Given the description of an element on the screen output the (x, y) to click on. 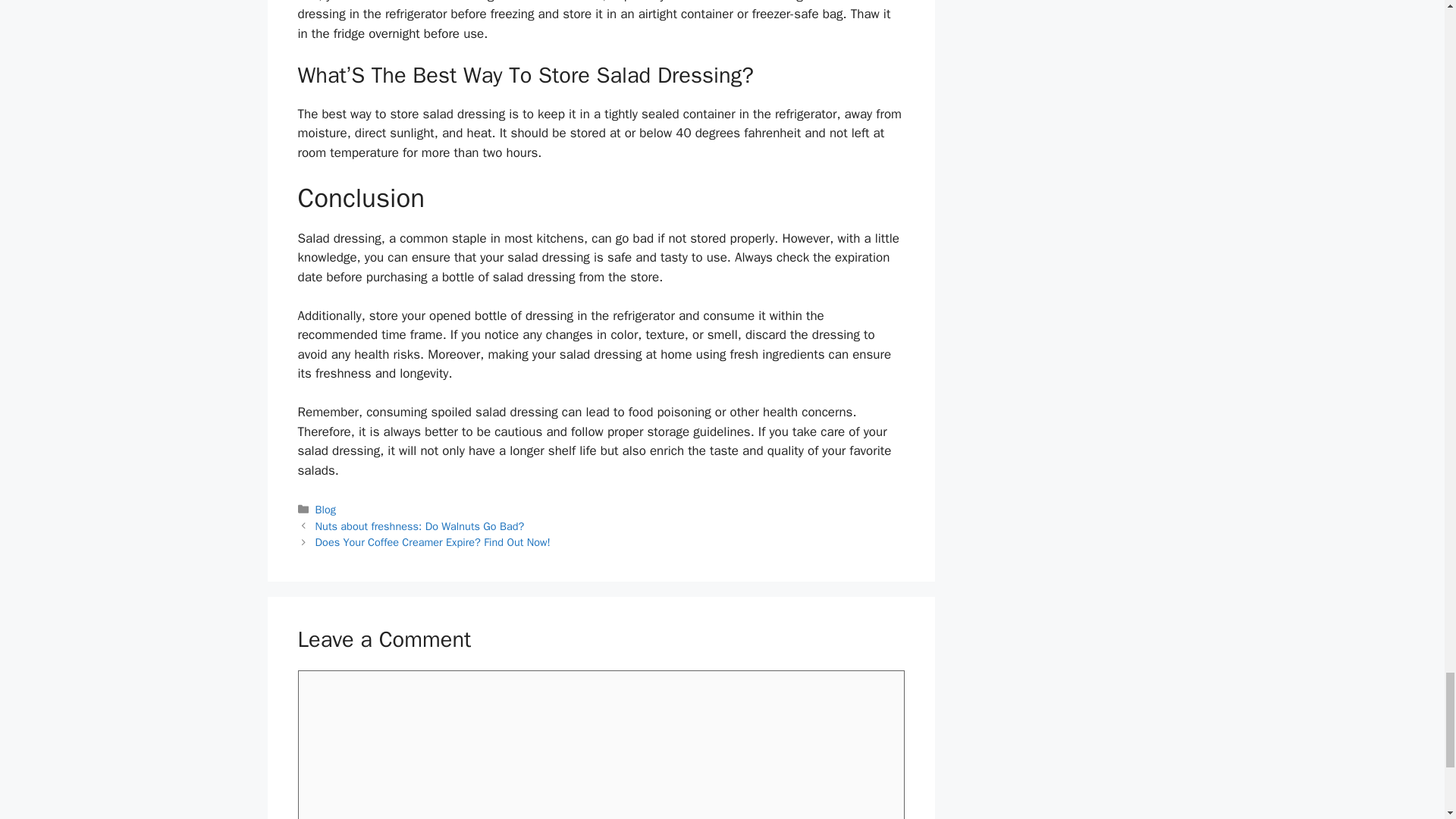
Nuts about freshness: Do Walnuts Go Bad? (419, 526)
Does Your Coffee Creamer Expire? Find Out Now! (432, 541)
Blog (325, 509)
